Given the description of an element on the screen output the (x, y) to click on. 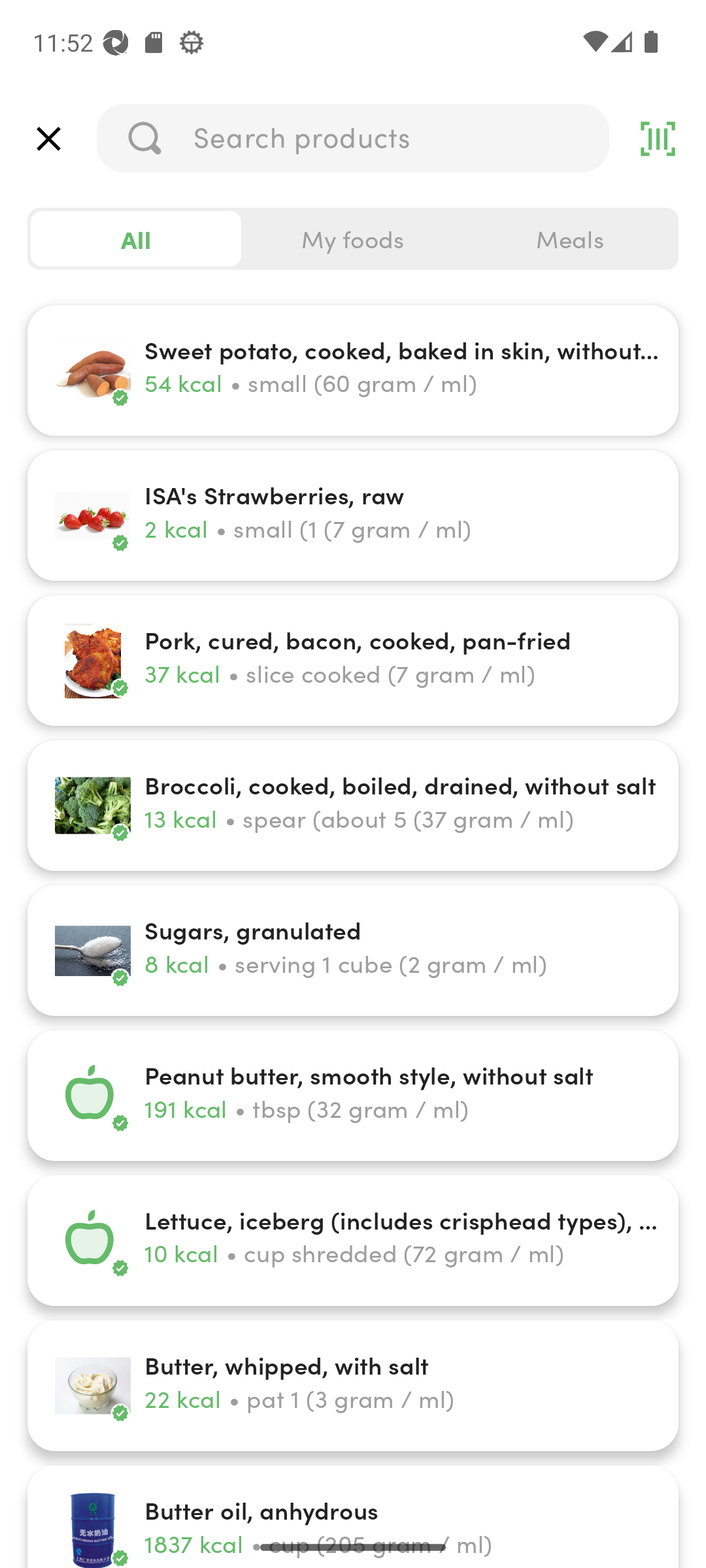
top_left_action (48, 138)
top_right_action (658, 138)
My foods (352, 238)
Meals (569, 238)
